Given the description of an element on the screen output the (x, y) to click on. 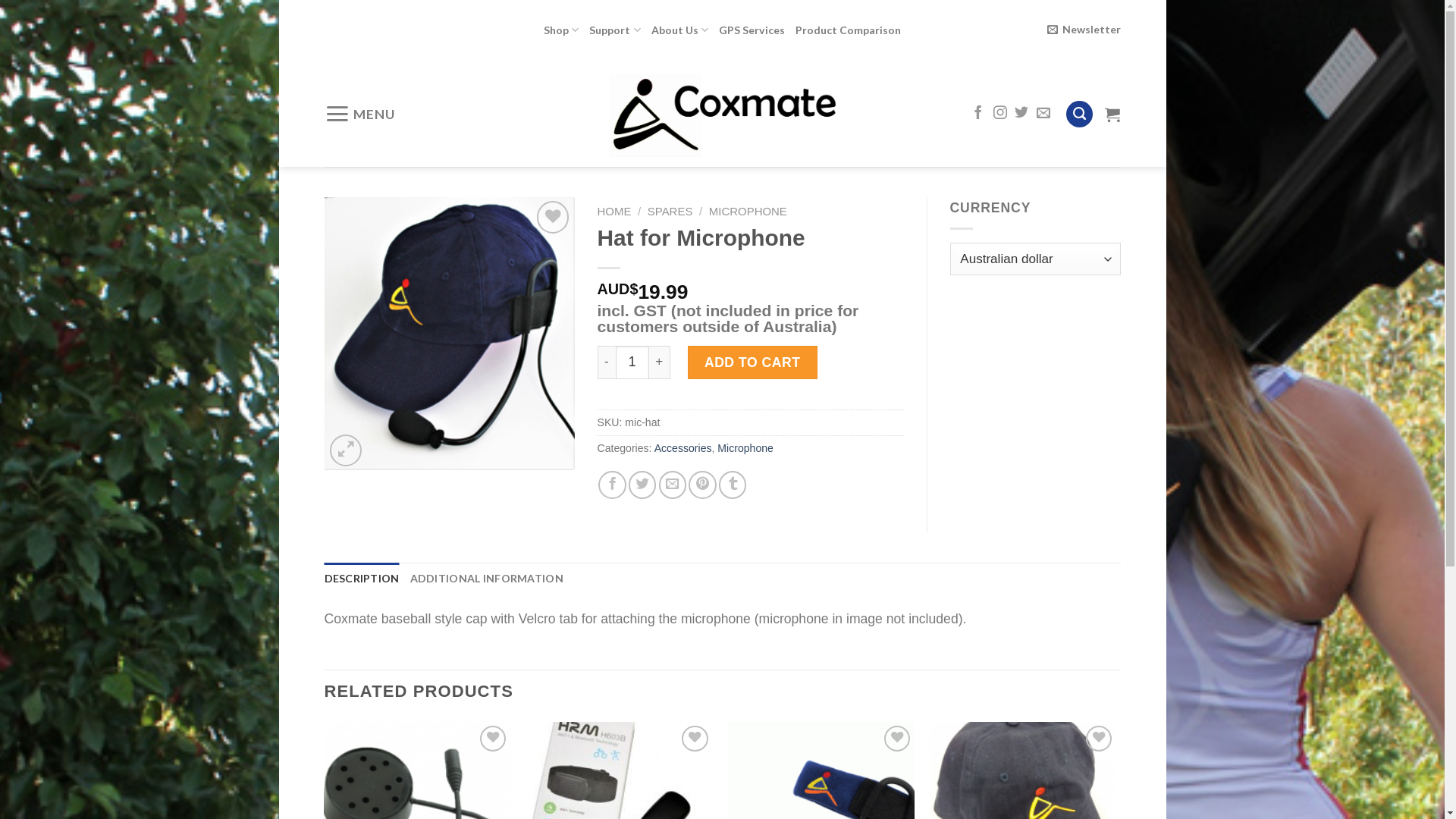
Support Element type: text (614, 30)
Follow on Twitter Element type: hover (1021, 113)
Send us an email Element type: hover (1043, 113)
Pin on Pinterest Element type: hover (701, 484)
Cart Element type: hover (1112, 113)
mic-with-hat-edited Element type: hover (449, 333)
Email to a Friend Element type: hover (672, 484)
DESCRIPTION Element type: text (361, 578)
ADDITIONAL INFORMATION Element type: text (486, 578)
Product Comparison Element type: text (847, 30)
Microphone Element type: text (745, 448)
Accessories Element type: text (683, 448)
Shop Element type: text (560, 30)
GPS Services Element type: text (751, 30)
Follow on Instagram Element type: hover (1000, 113)
SPARES Element type: text (670, 210)
About Us Element type: text (679, 30)
Share on Tumblr Element type: hover (732, 484)
Share on Facebook Element type: hover (611, 484)
Zoom Element type: hover (345, 450)
Follow on Facebook Element type: hover (978, 113)
MICROPHONE Element type: text (748, 210)
ADD TO CART Element type: text (752, 362)
HOME Element type: text (614, 210)
Newsletter Element type: text (1083, 29)
Share on Twitter Element type: hover (641, 484)
MENU Element type: text (359, 113)
